Given the description of an element on the screen output the (x, y) to click on. 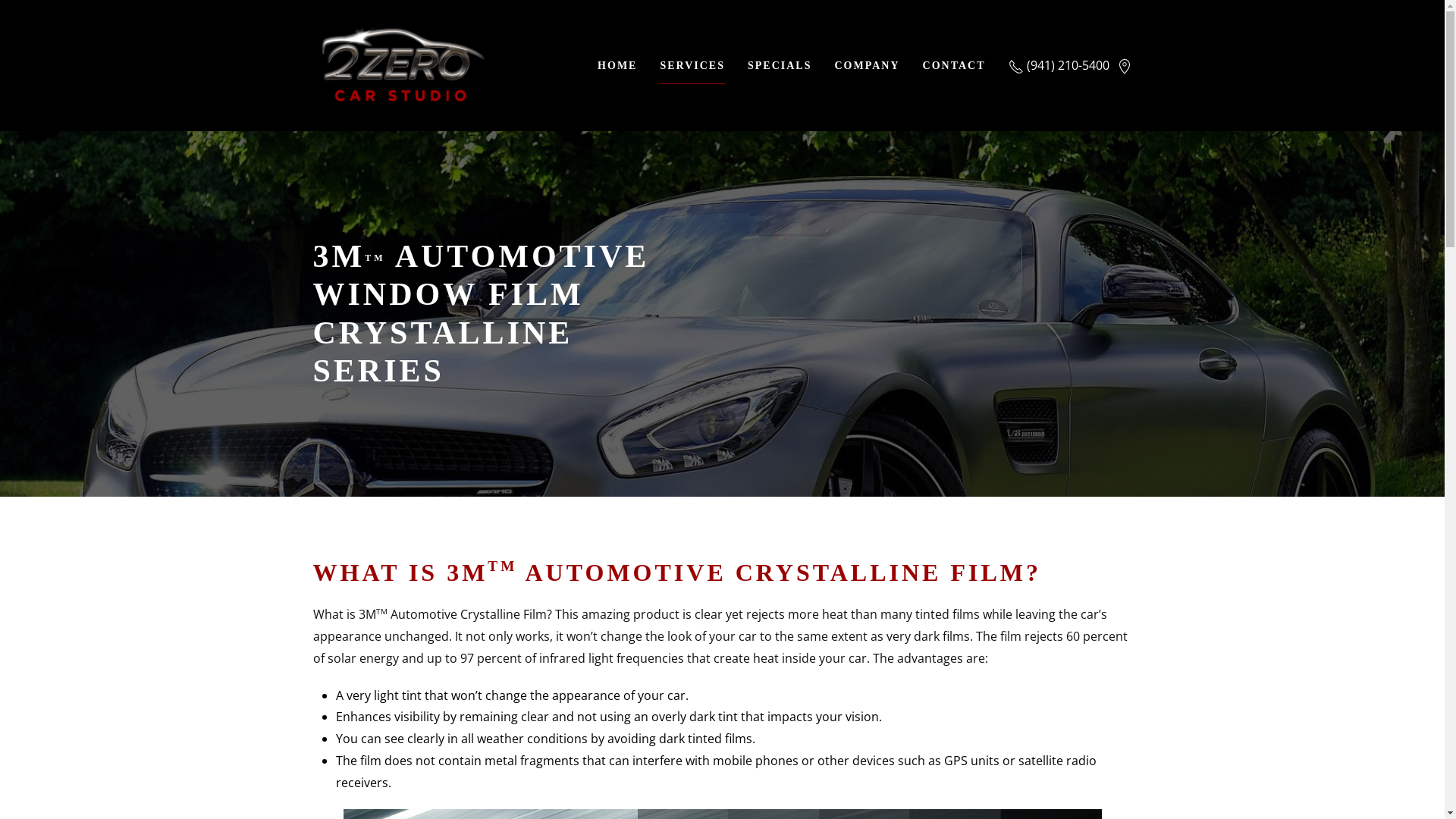
SERVICES Element type: text (692, 65)
COMPANY Element type: text (866, 65)
(941) 210-5400 Element type: text (1058, 64)
SPECIALS Element type: text (779, 65)
CONTACT Element type: text (954, 65)
HOME Element type: text (617, 65)
